Given the description of an element on the screen output the (x, y) to click on. 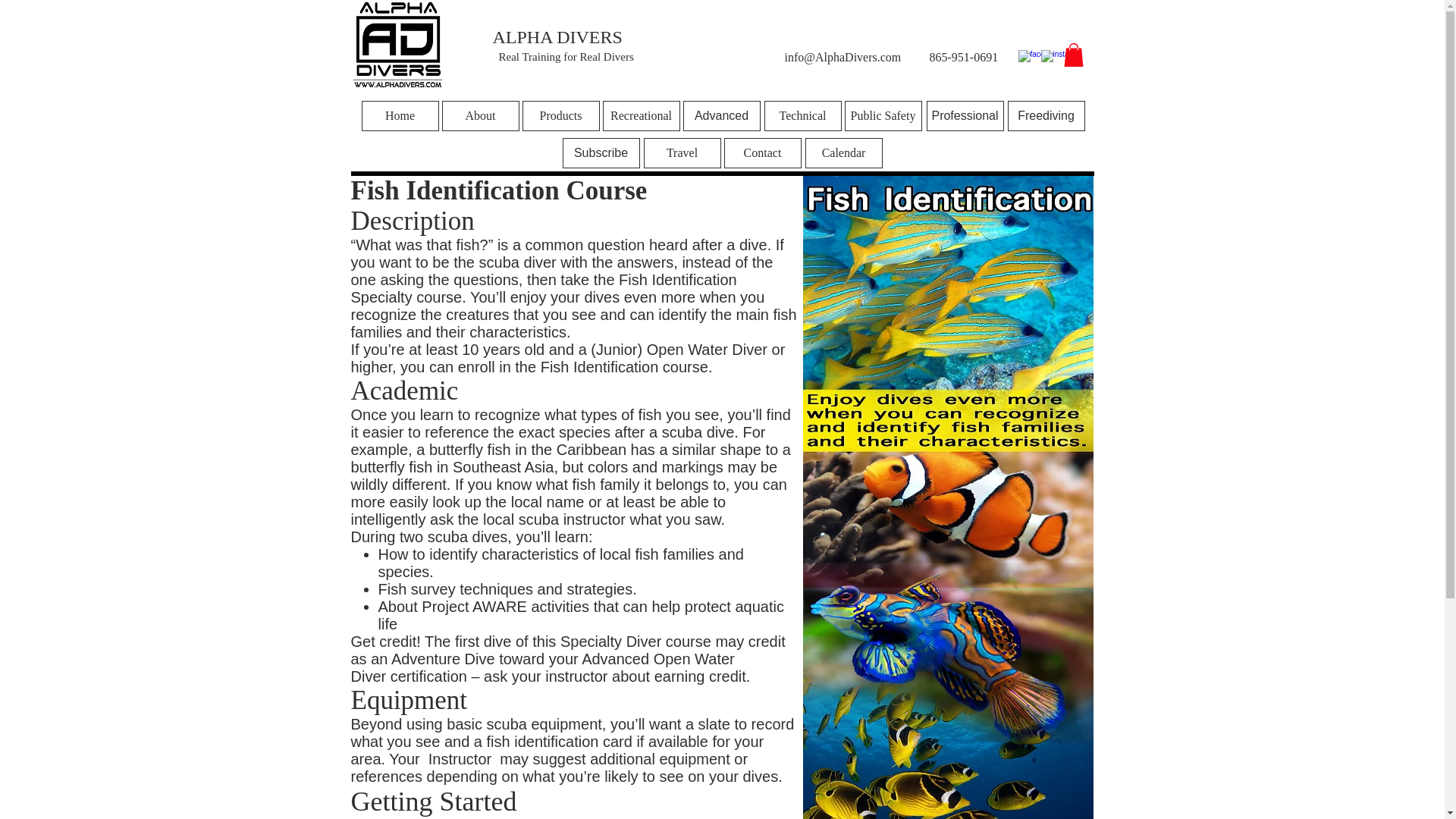
 Specialty Diver course (633, 641)
Freediving (1045, 115)
Public Safety (882, 115)
Advanced Open Water Diver (541, 667)
About (479, 115)
Subscribe (601, 153)
Advanced (721, 115)
Calendar (843, 153)
865-951-0691 (964, 56)
Contact (761, 153)
Products (559, 115)
Home (399, 115)
Recreational (640, 115)
basic scuba equipment (524, 723)
Technical (802, 115)
